Given the description of an element on the screen output the (x, y) to click on. 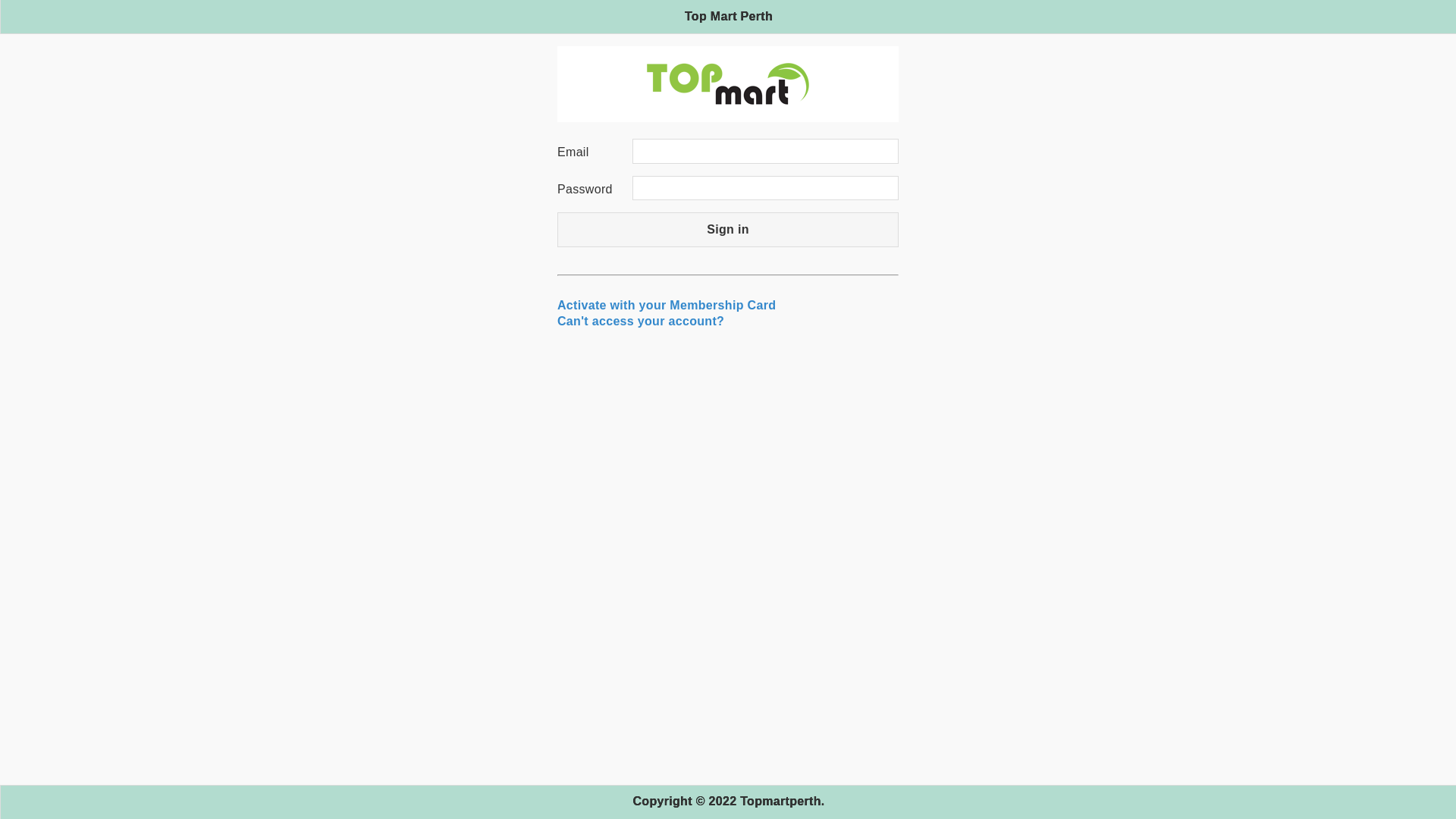
Sign in Element type: text (727, 229)
Can't access your account? Element type: text (640, 320)
Activate with your Membership Card Element type: text (666, 304)
